Given the description of an element on the screen output the (x, y) to click on. 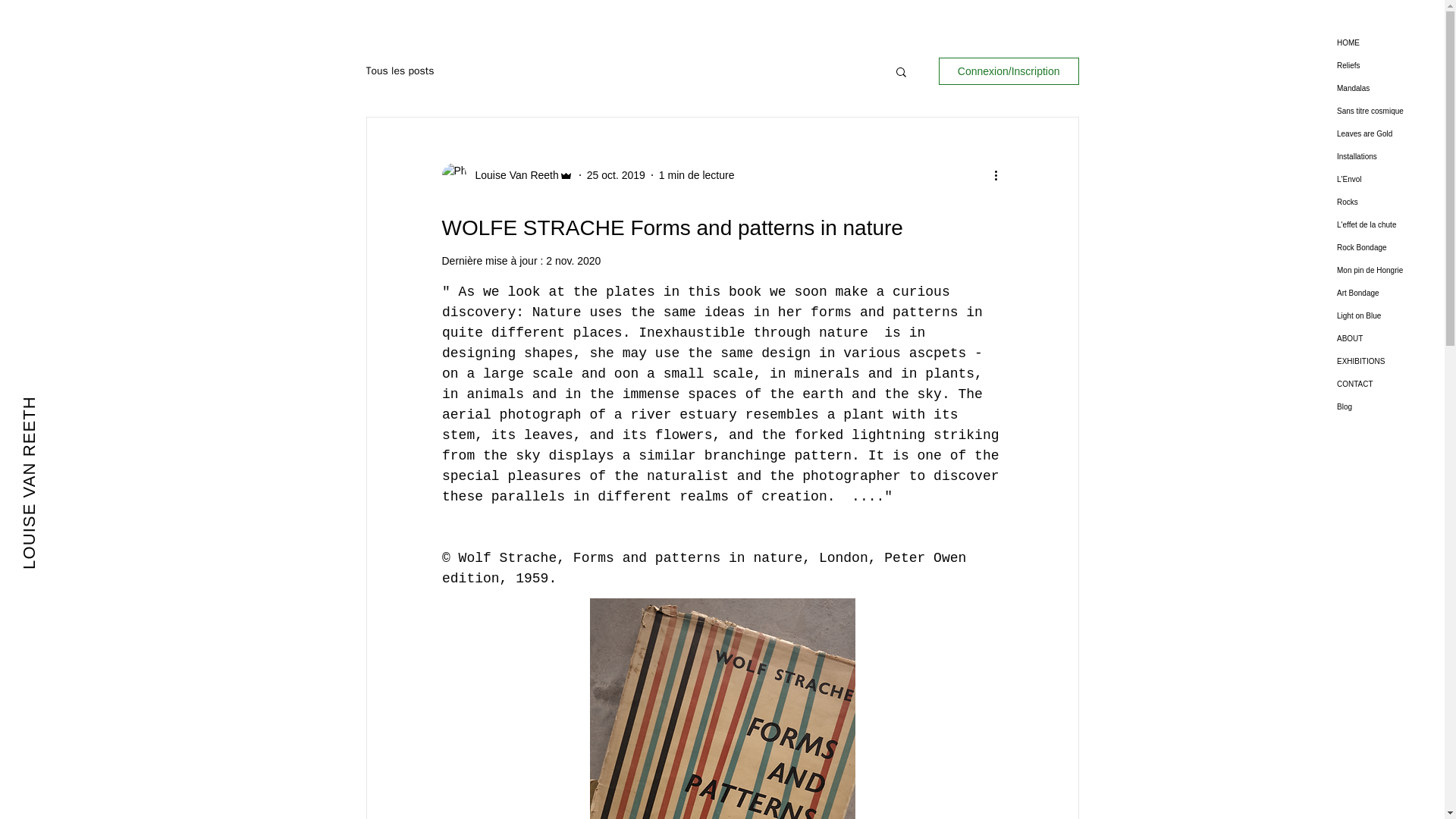
Rocks (1389, 201)
EXHIBITIONS (1389, 361)
Art Bondage (1389, 292)
Blog (1389, 406)
L'effet de la chute (1389, 224)
Tous les posts (399, 70)
LOUISE VAN REETH (106, 404)
Installations (1389, 156)
Rock Bondage (1389, 247)
2 nov. 2020 (572, 260)
Louise Van Reeth (511, 174)
Mon pin de Hongrie (1389, 270)
Light on Blue (1389, 315)
Mandalas (1389, 87)
HOME (1389, 42)
